Given the description of an element on the screen output the (x, y) to click on. 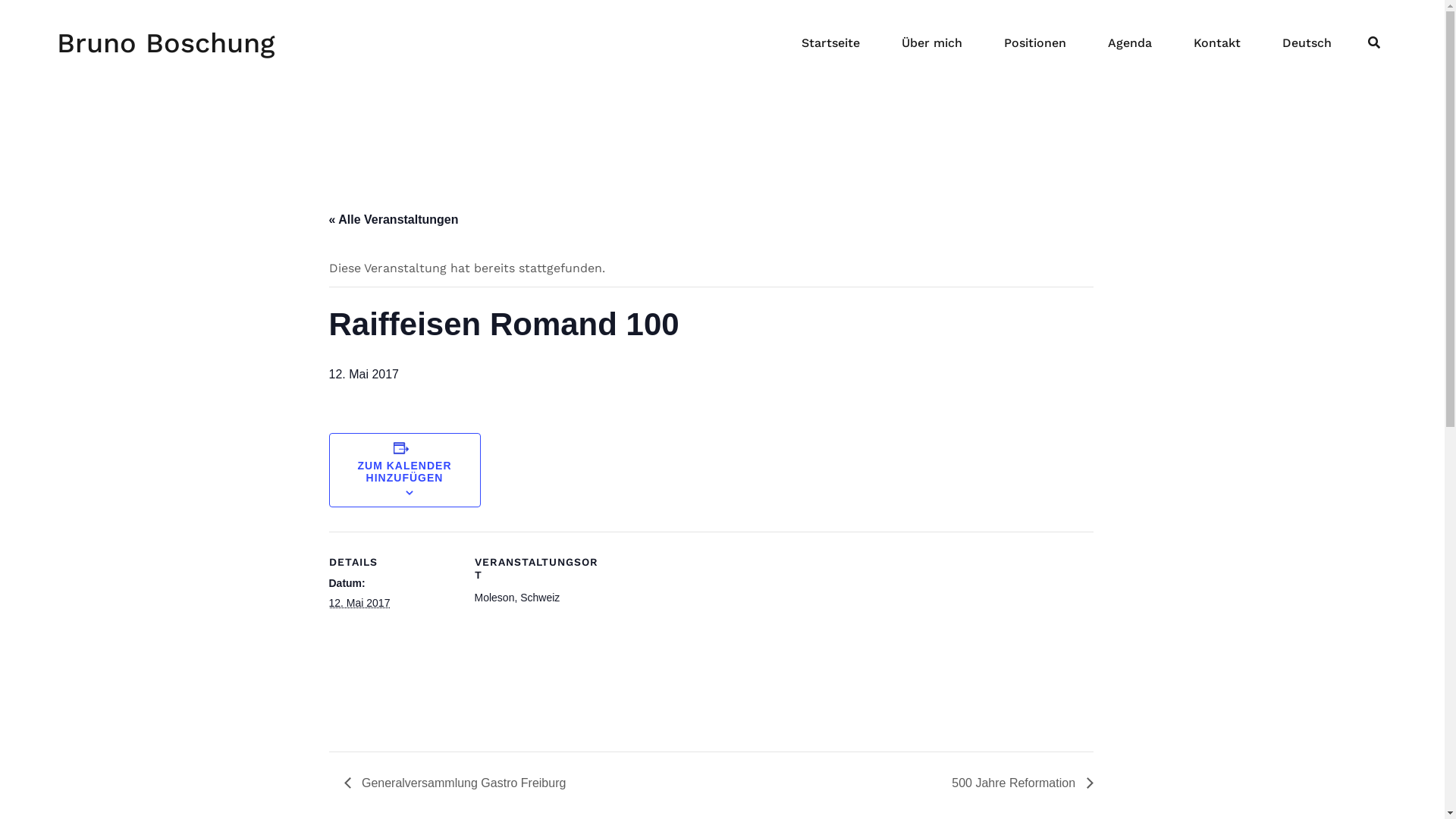
Bruno Boschung Element type: text (165, 43)
Kontakt Element type: text (1216, 43)
Startseite Element type: text (830, 43)
Deutsch Element type: text (1306, 43)
500 Jahre Reformation Element type: text (1017, 782)
Positionen Element type: text (1035, 43)
Generalversammlung Gastro Freiburg Element type: text (459, 782)
Agenda Element type: text (1129, 43)
